Given the description of an element on the screen output the (x, y) to click on. 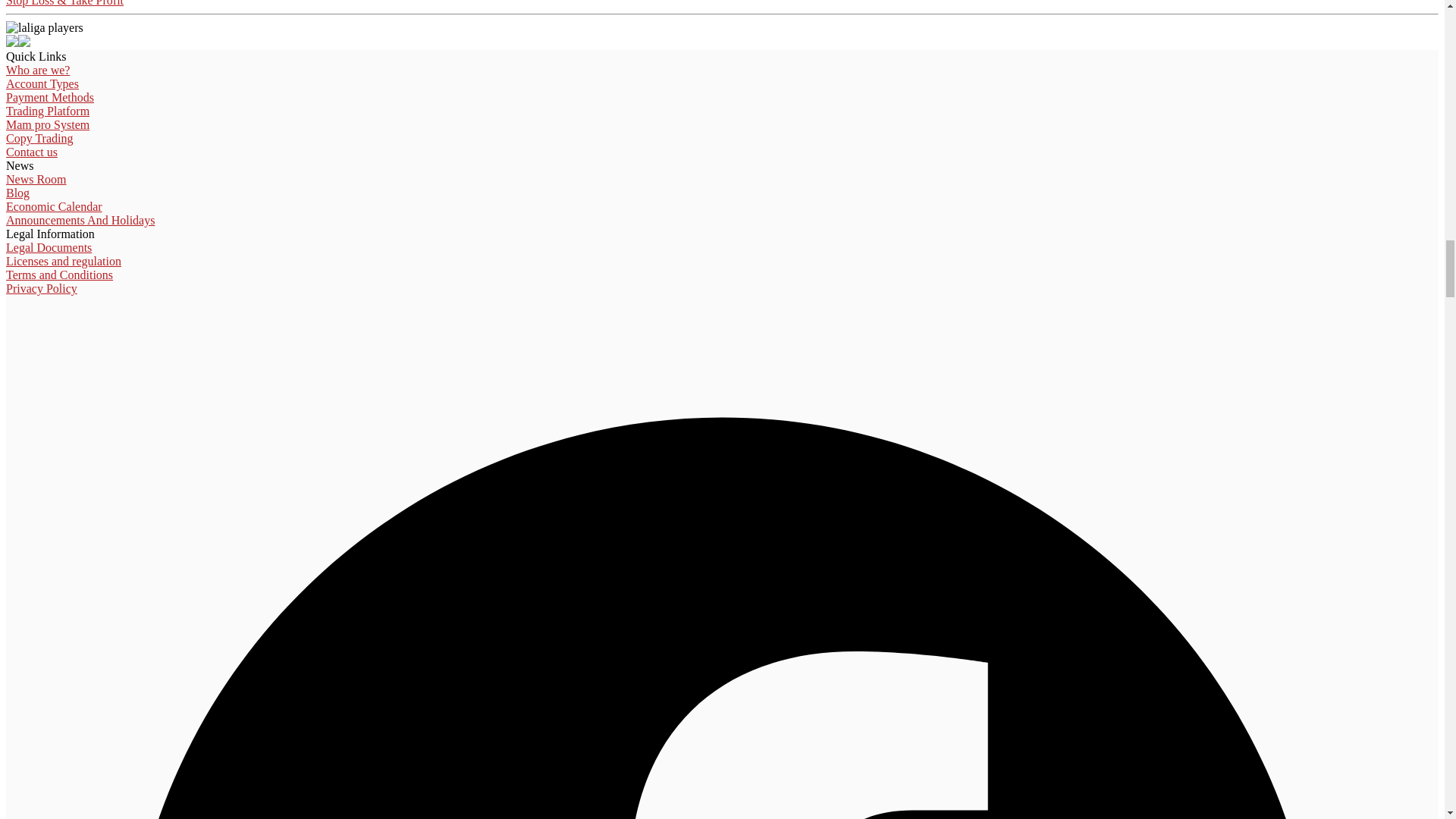
Mam pro System (46, 124)
Payment Methods (49, 97)
Account Types (41, 83)
Trading Platform (46, 110)
Who are we? (37, 69)
Contact us (31, 151)
Copy Trading (38, 137)
